Given the description of an element on the screen output the (x, y) to click on. 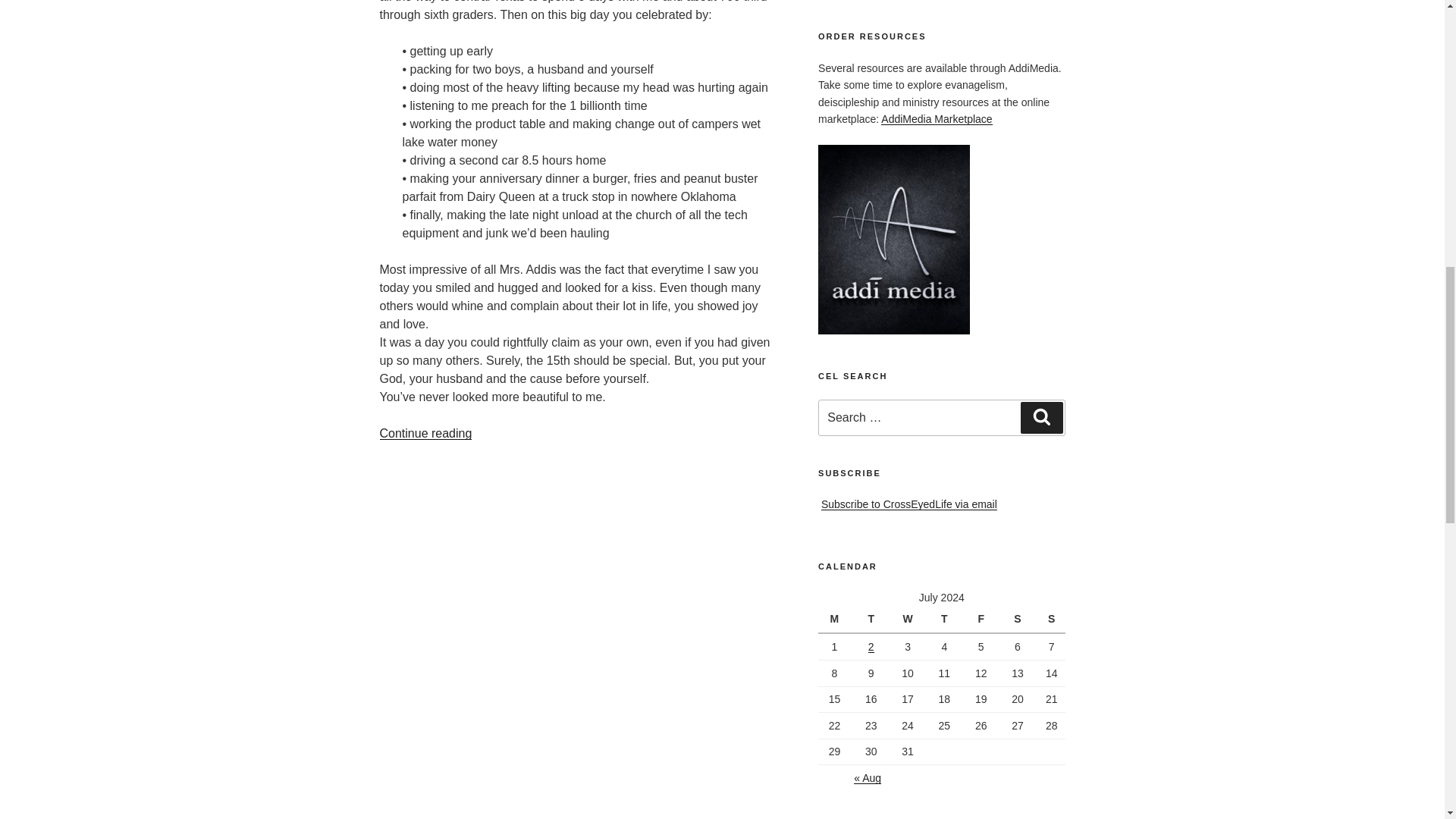
AddiMedia Marketplace (935, 119)
Tuesday (872, 619)
Friday (982, 619)
Subscribe to CrossEyedLife via email (909, 503)
Sunday (1051, 619)
Wednesday (909, 619)
Saturday (1019, 619)
Monday (836, 619)
Thursday (945, 619)
Search (1041, 418)
